Given the description of an element on the screen output the (x, y) to click on. 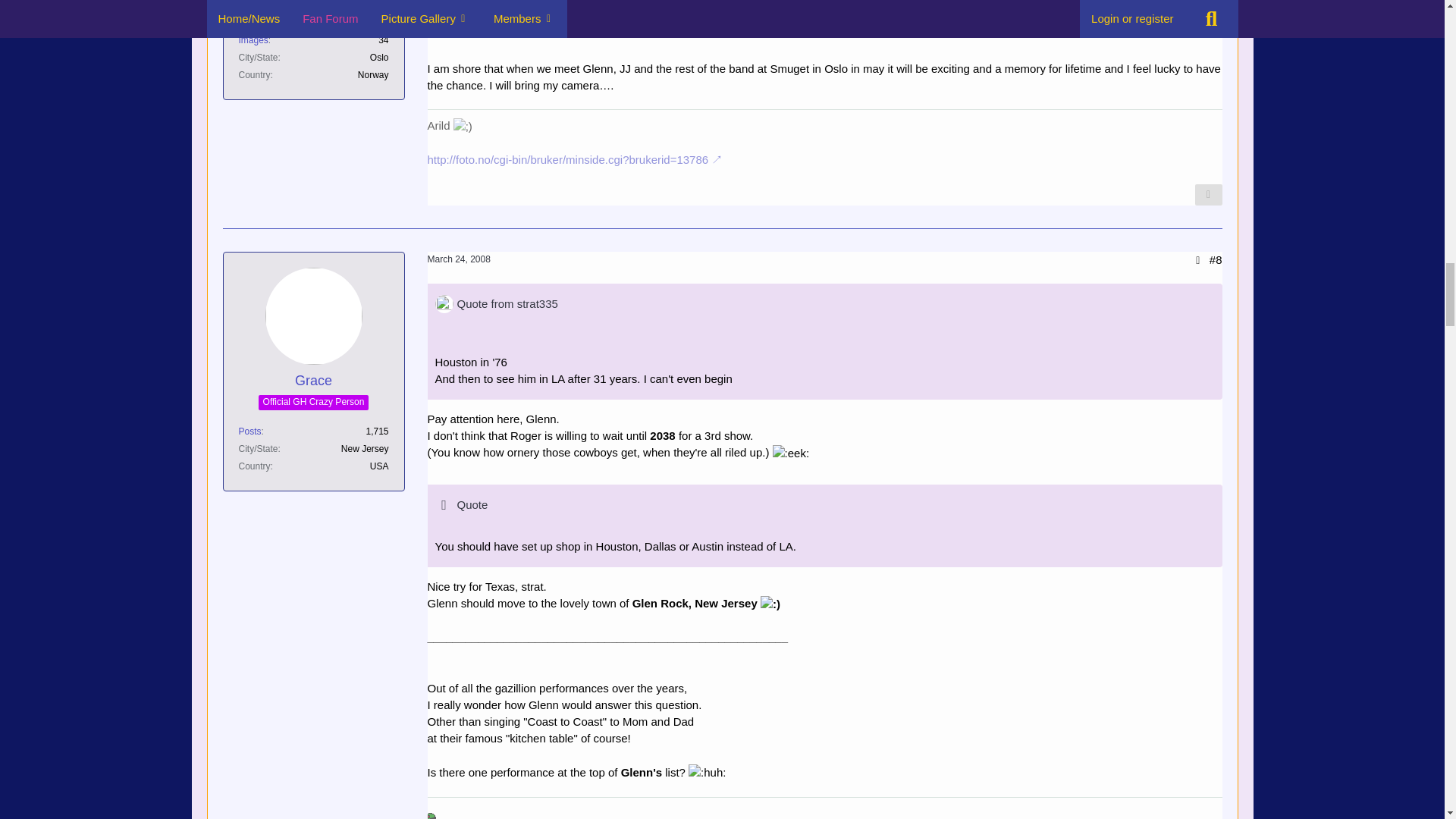
smile (770, 604)
wink (461, 126)
EEK! (791, 453)
